Given the description of an element on the screen output the (x, y) to click on. 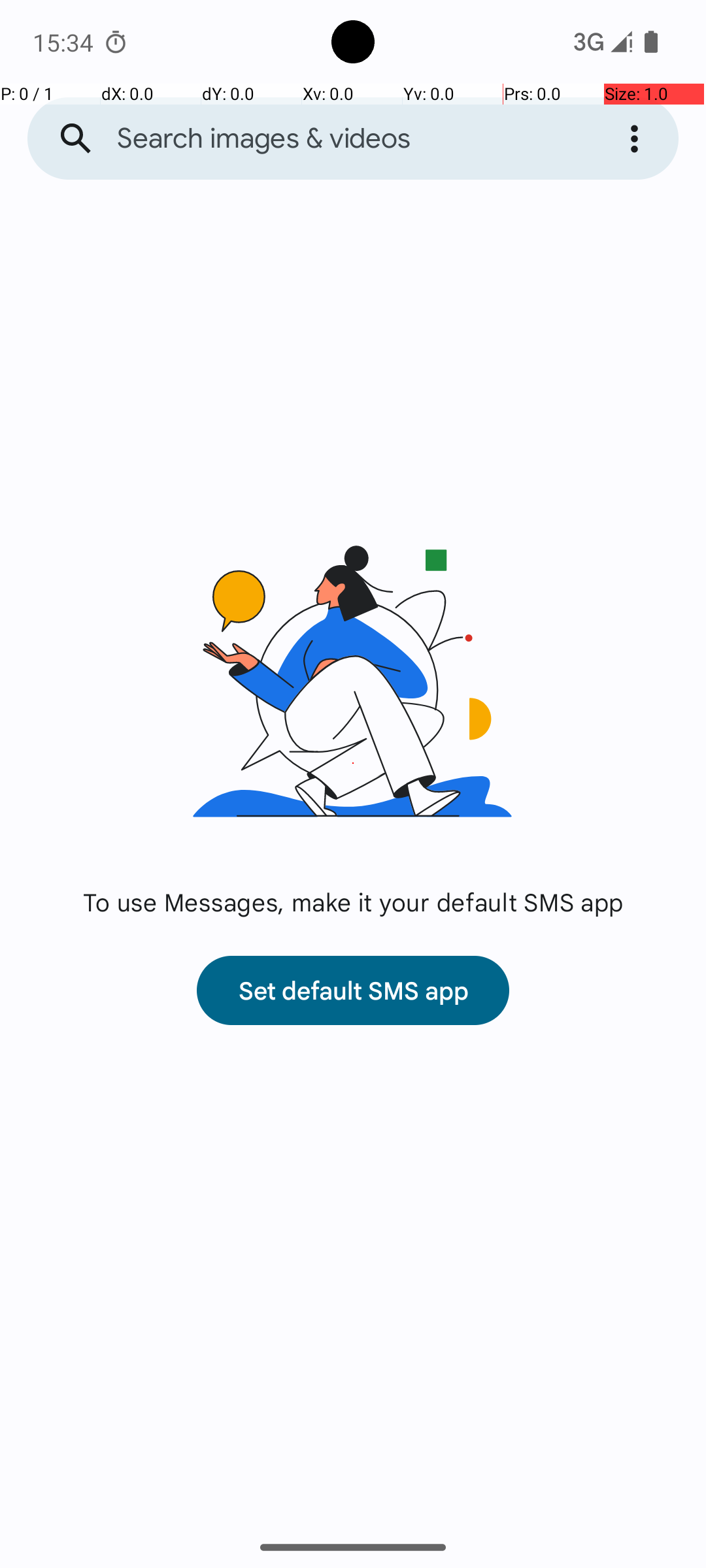
To use Messages, make it your default SMS app Element type: android.widget.TextView (353, 901)
Set default SMS app Element type: android.widget.Button (352, 990)
